Given the description of an element on the screen output the (x, y) to click on. 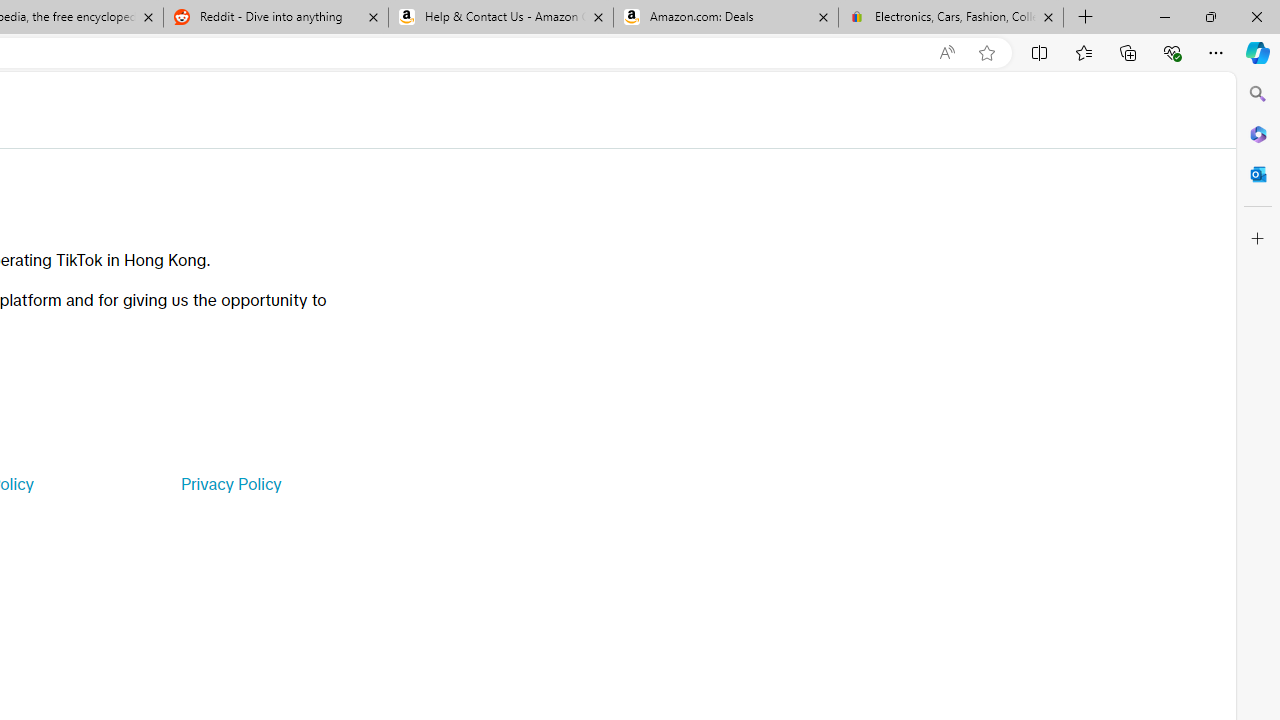
Privacy Policy (230, 484)
